Given the description of an element on the screen output the (x, y) to click on. 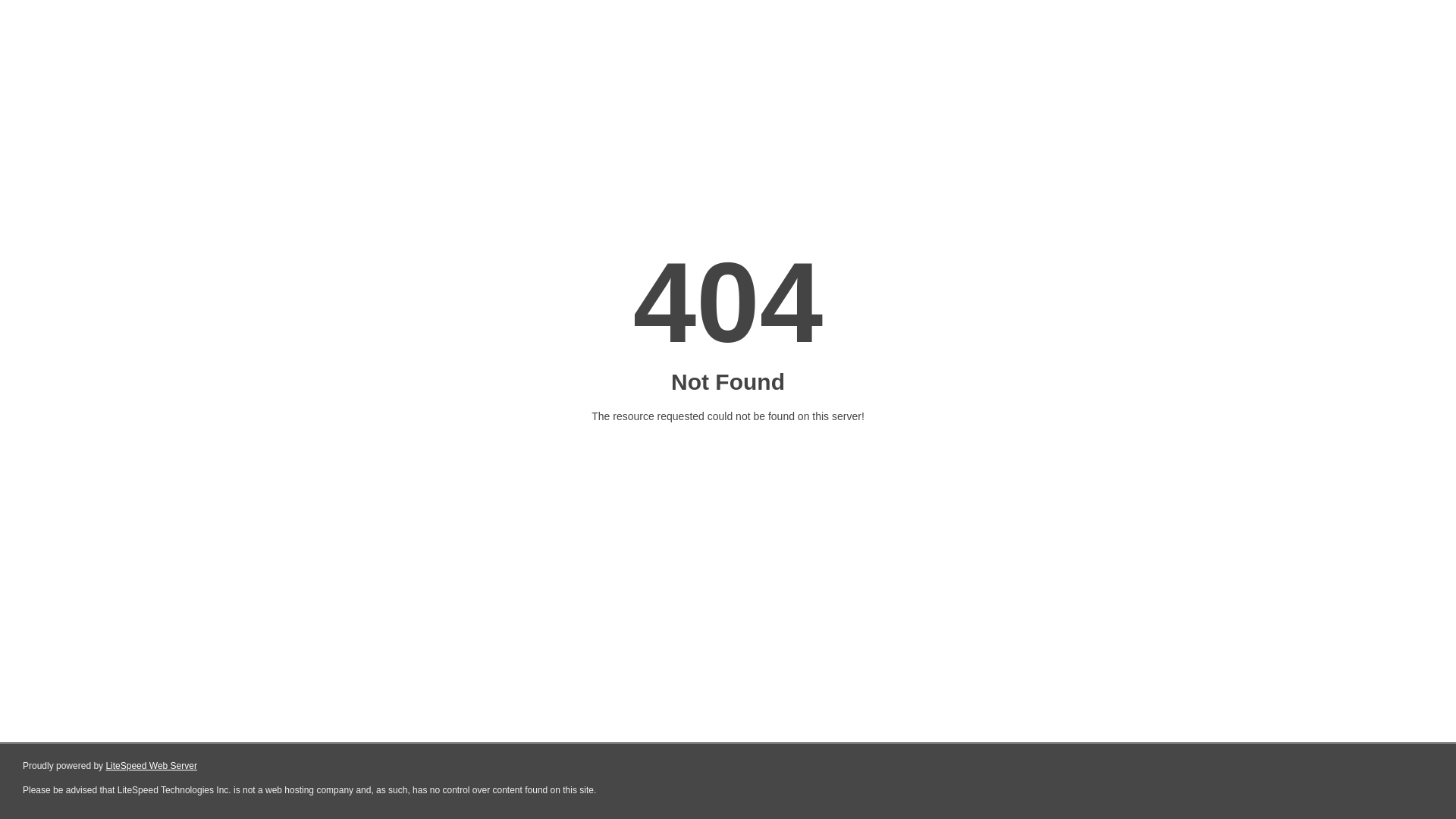
LiteSpeed Web Server Element type: text (151, 765)
